Given the description of an element on the screen output the (x, y) to click on. 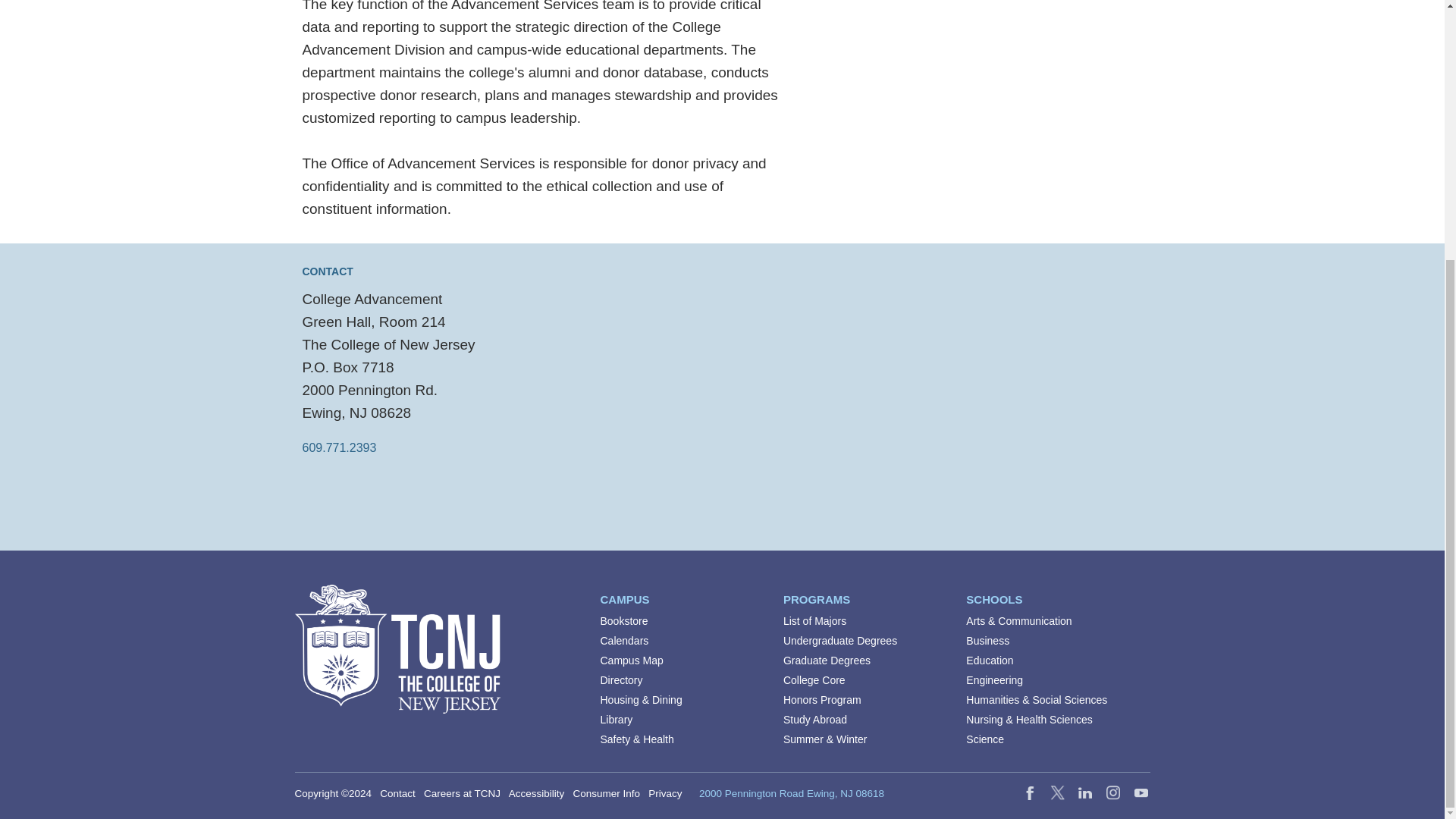
Calendars (624, 640)
Bookstore (623, 621)
609.771.2393 (338, 447)
